Given the description of an element on the screen output the (x, y) to click on. 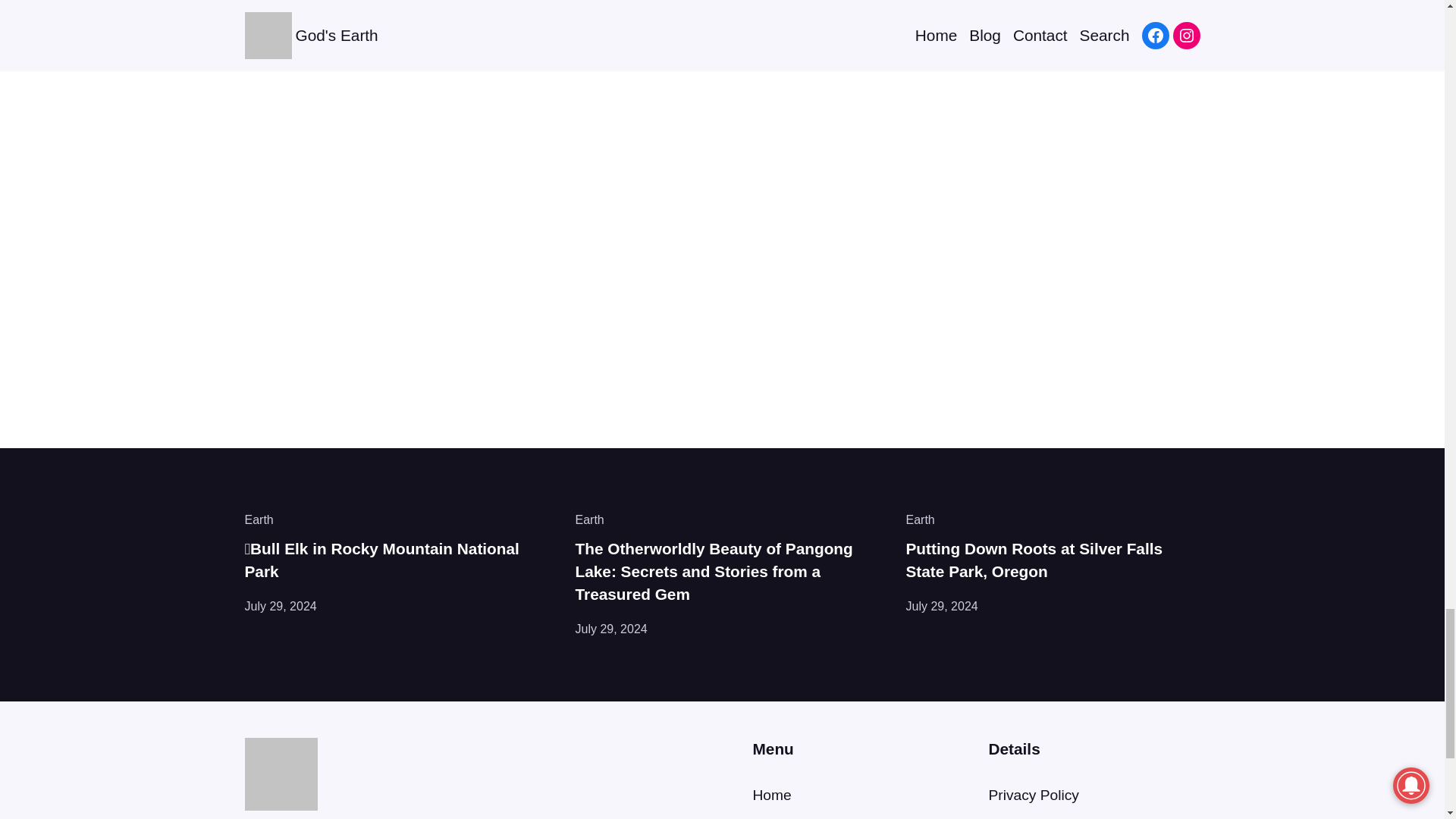
Earth (589, 519)
Earth (919, 519)
Home (771, 795)
Privacy Policy (1033, 795)
Putting Down Roots at Silver Falls State Park, Oregon (1052, 560)
Earth (258, 519)
